Given the description of an element on the screen output the (x, y) to click on. 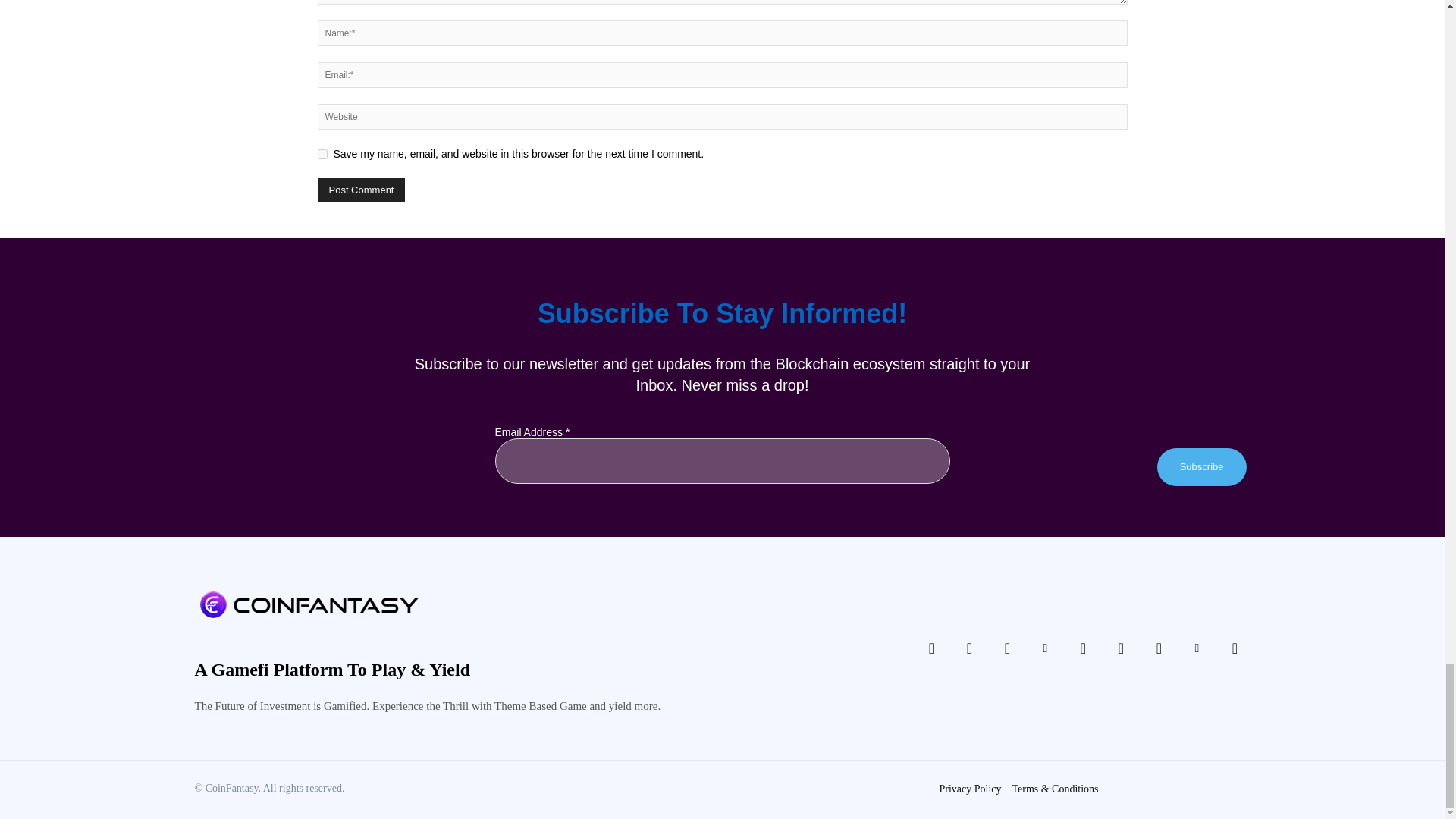
yes (321, 153)
CF Logo (307, 604)
Subscribe (1201, 466)
Discord (930, 648)
Post Comment (360, 189)
